Given the description of an element on the screen output the (x, y) to click on. 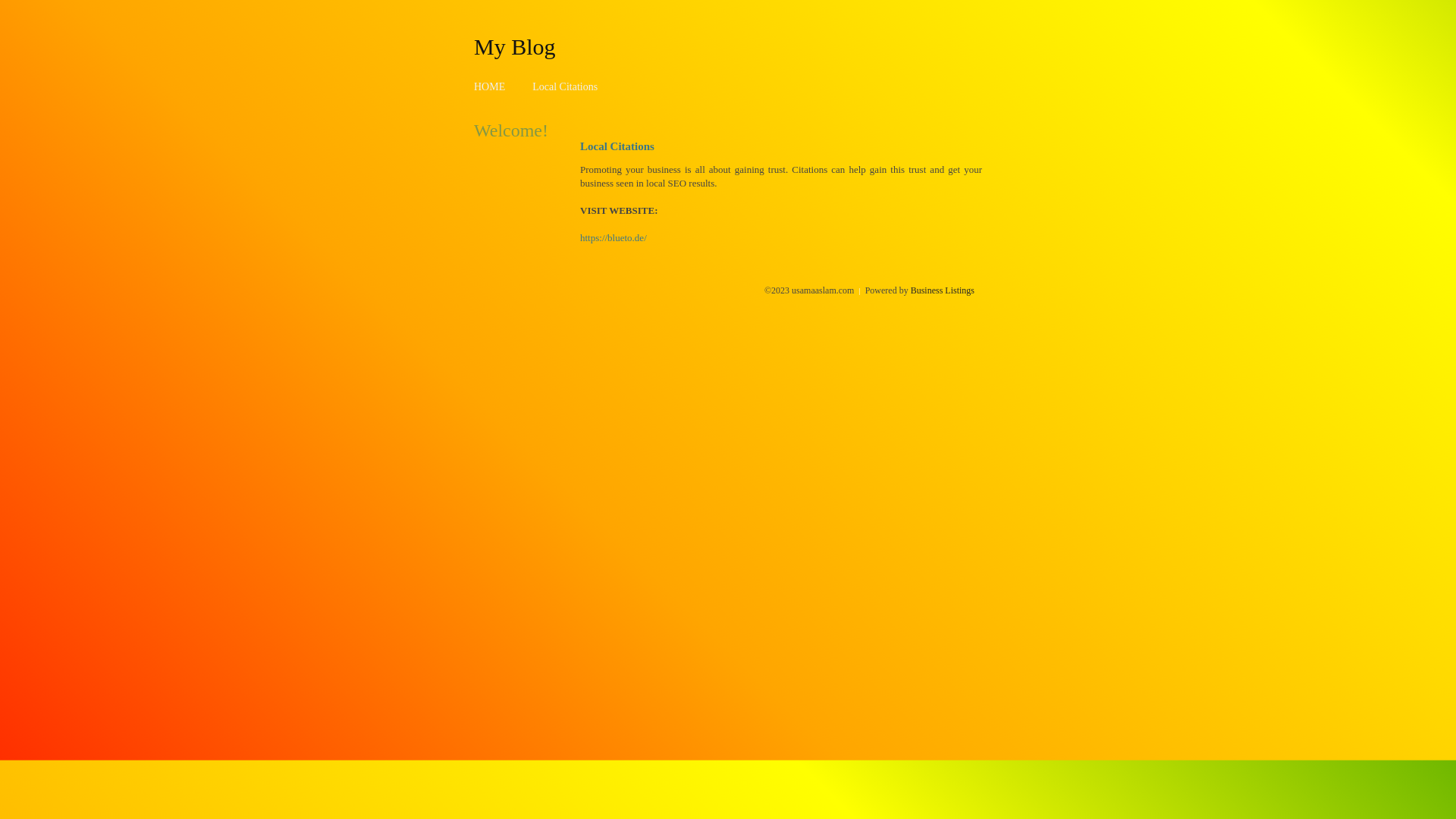
Business Listings Element type: text (942, 290)
My Blog Element type: text (514, 46)
Local Citations Element type: text (564, 86)
HOME Element type: text (489, 86)
https://blueto.de/ Element type: text (613, 237)
